Given the description of an element on the screen output the (x, y) to click on. 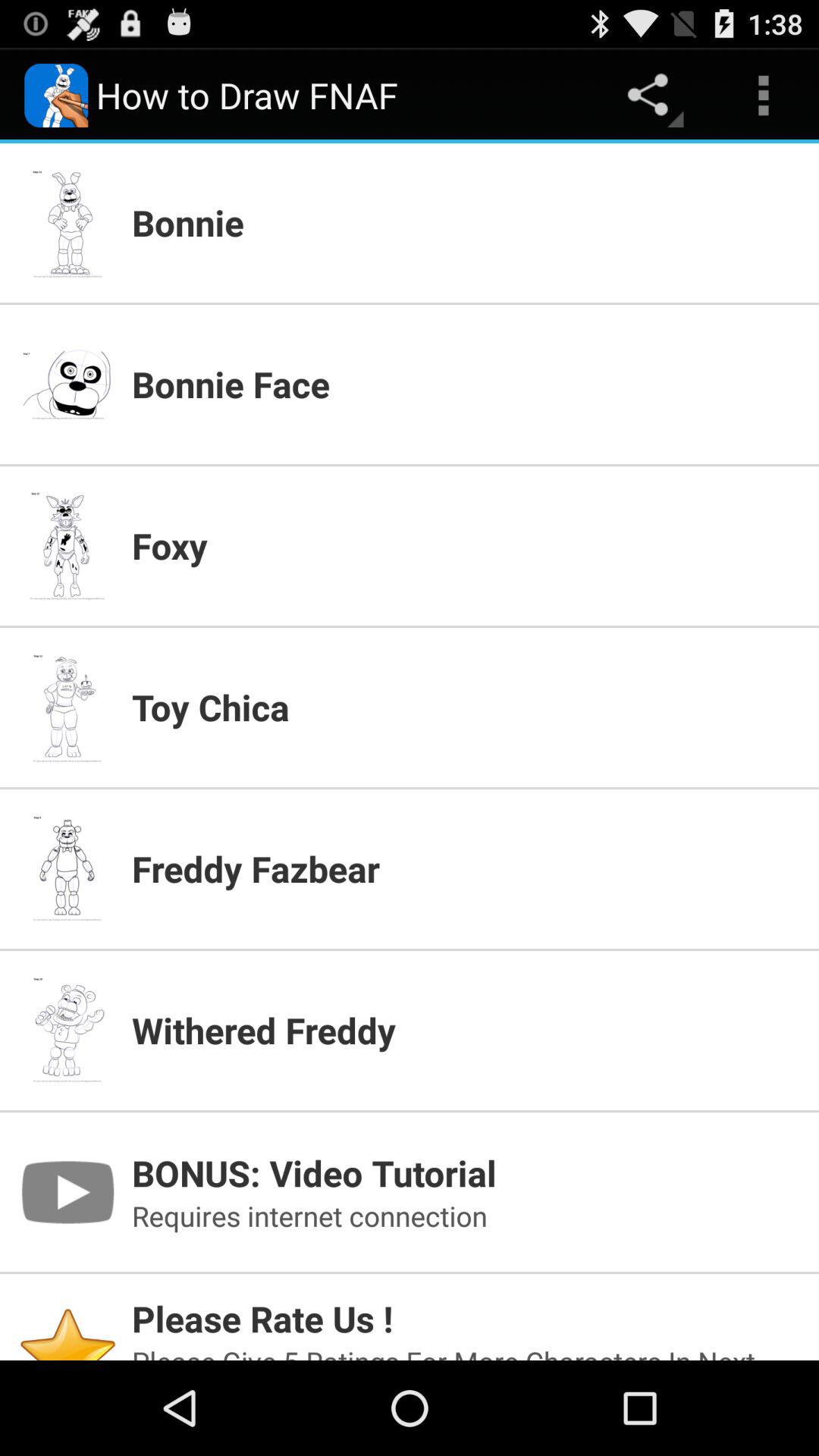
choose the please give 5 icon (465, 1351)
